Given the description of an element on the screen output the (x, y) to click on. 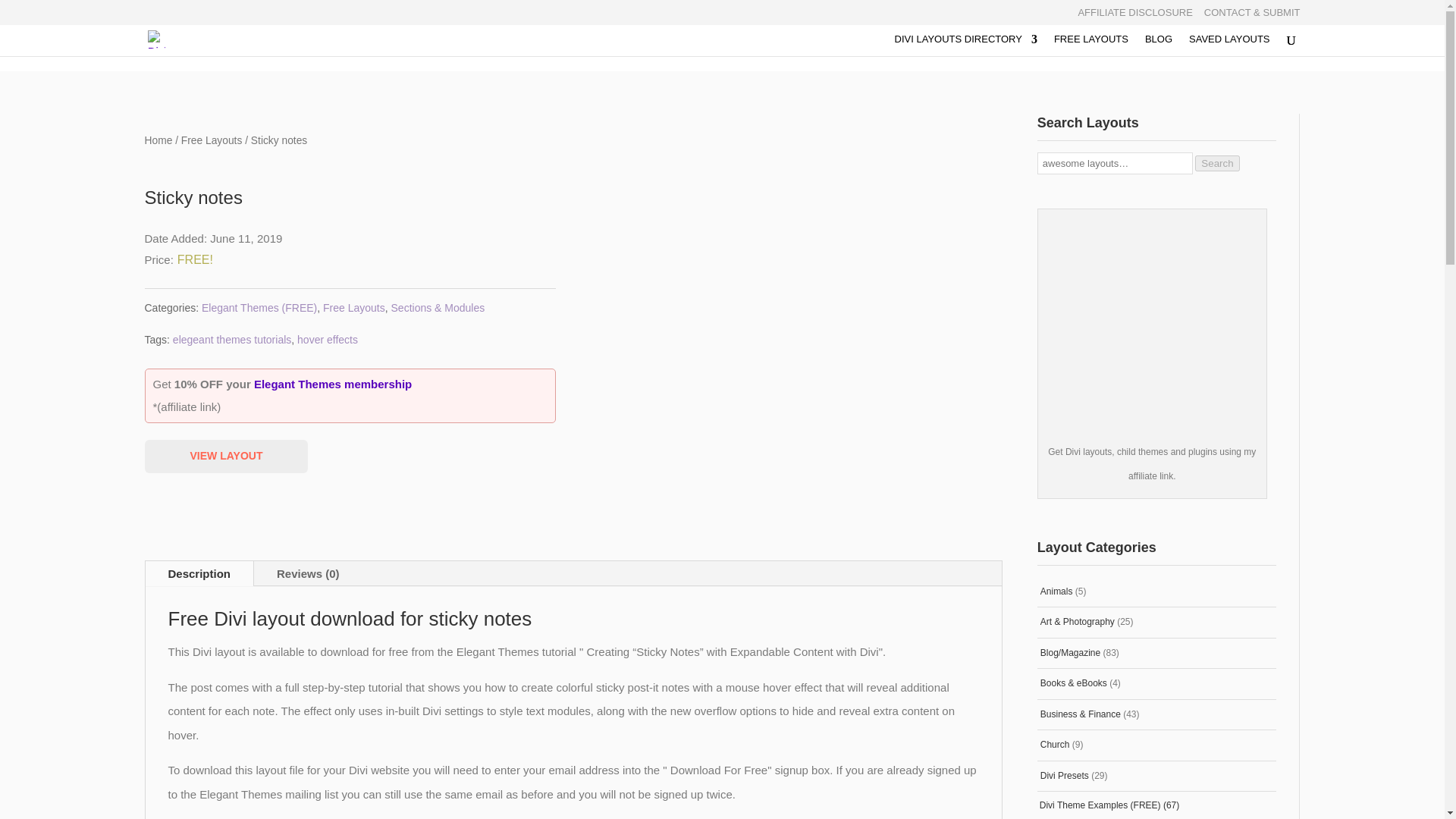
AFFILIATE DISCLOSURE (1134, 16)
DIVI LAYOUTS DIRECTORY (965, 45)
Elegant Themes membership (332, 383)
